Given the description of an element on the screen output the (x, y) to click on. 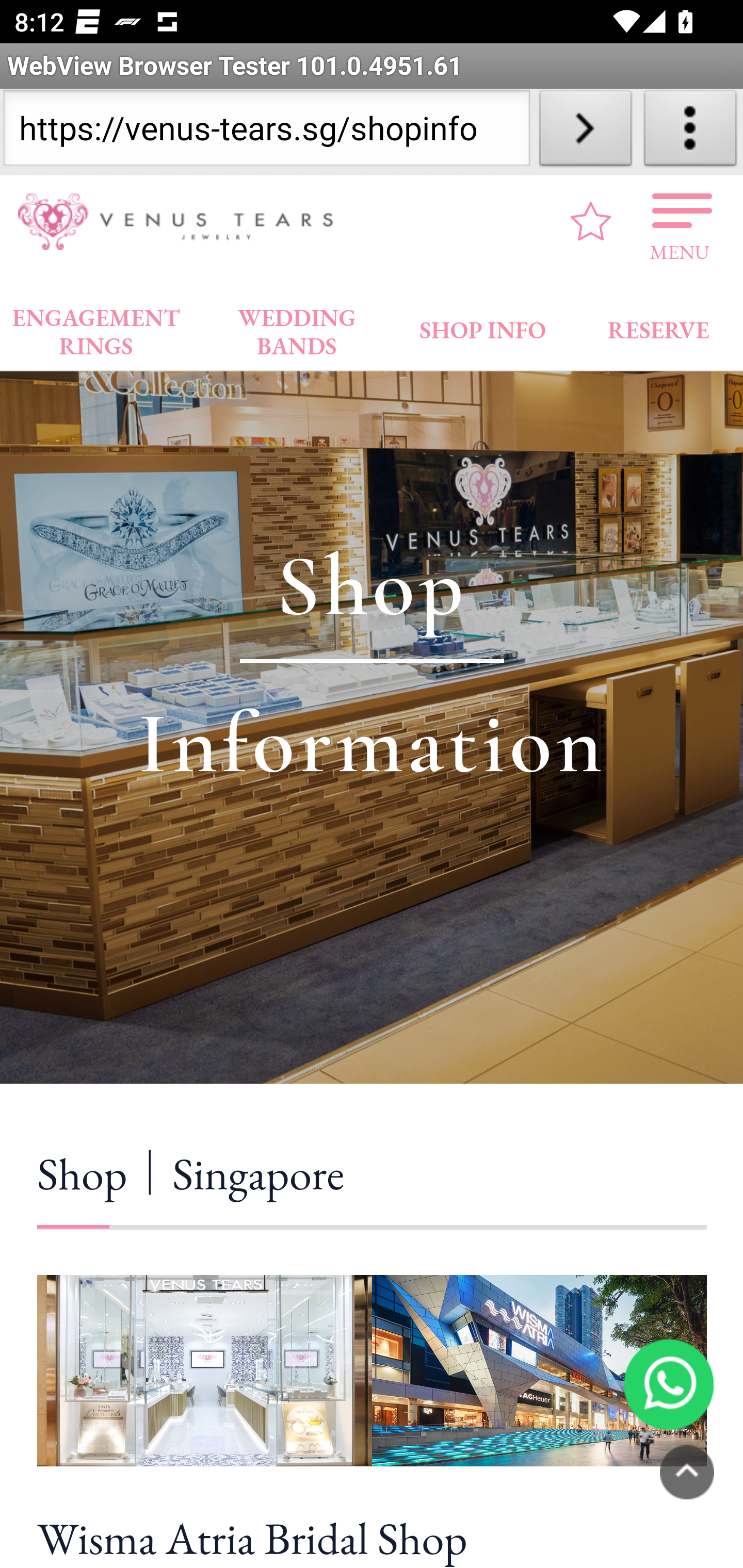
https://venus-tears.sg/shopinfo (266, 132)
Load URL (585, 132)
About WebView (690, 132)
favourite (591, 220)
MENU (680, 220)
VENUS TEARS (181, 221)
ENGAGEMENT RINGS ENGAGEMENT RINGS (96, 326)
WEDDING BANDS WEDDING BANDS (296, 326)
SHOP INFO (482, 325)
RESERVE (657, 325)
6585184875 (668, 1383)
PAGETOP (686, 1472)
Wisma Atria Bridal Shop (372, 1535)
